Given the description of an element on the screen output the (x, y) to click on. 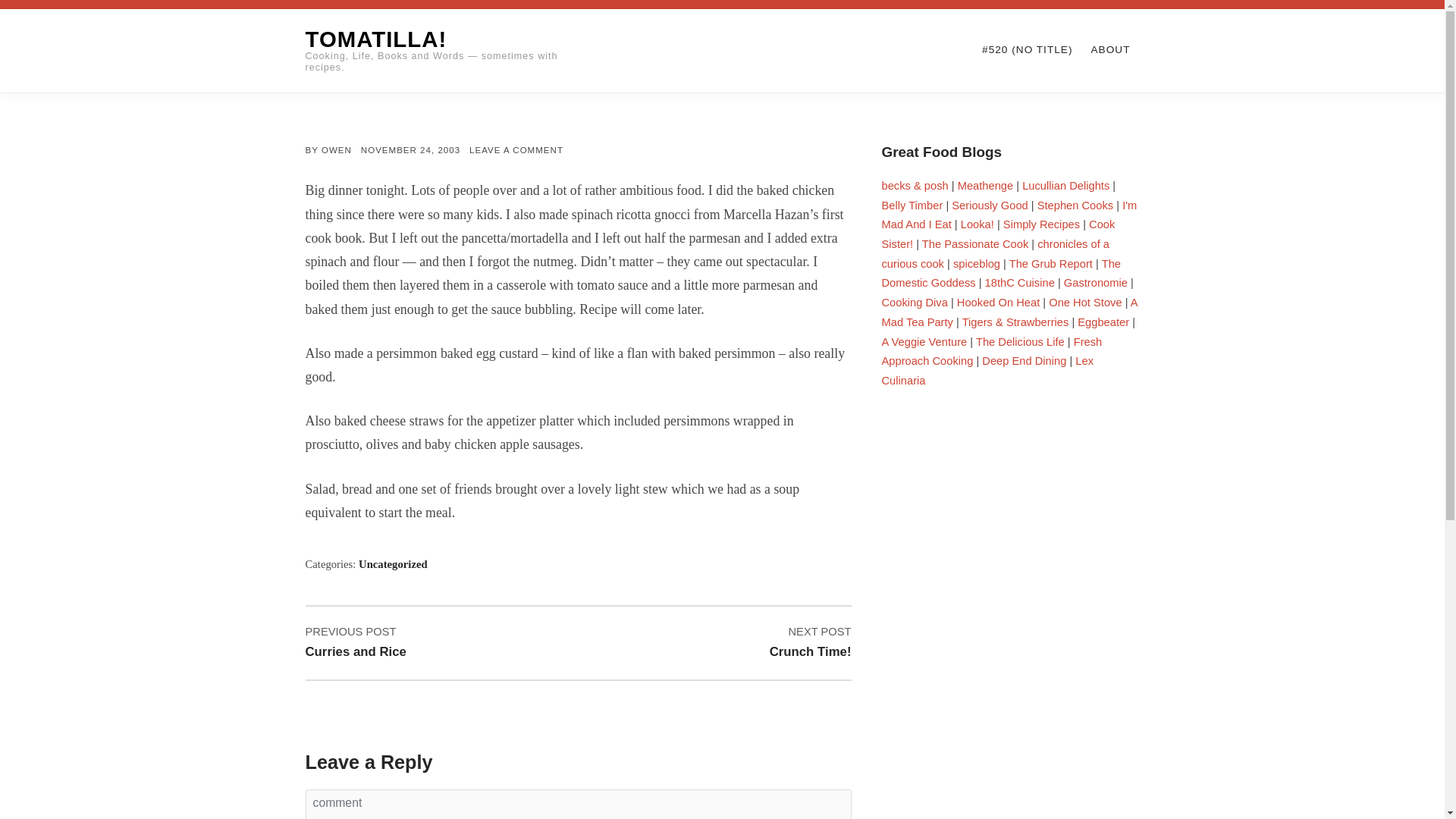
Meathenge (515, 149)
Lucullian Delights (985, 185)
Sweden meets Italy with great food and photographs (1065, 185)
spiceblog (1065, 185)
Deep End Dining (976, 263)
South Africa, food and poetry via London (1023, 360)
Gorgeous food and photography in Maine (997, 234)
ABOUT (1074, 205)
18thC Cuisine (1109, 50)
The Delicious Life (1019, 282)
Gastronomie (1019, 341)
